Given the description of an element on the screen output the (x, y) to click on. 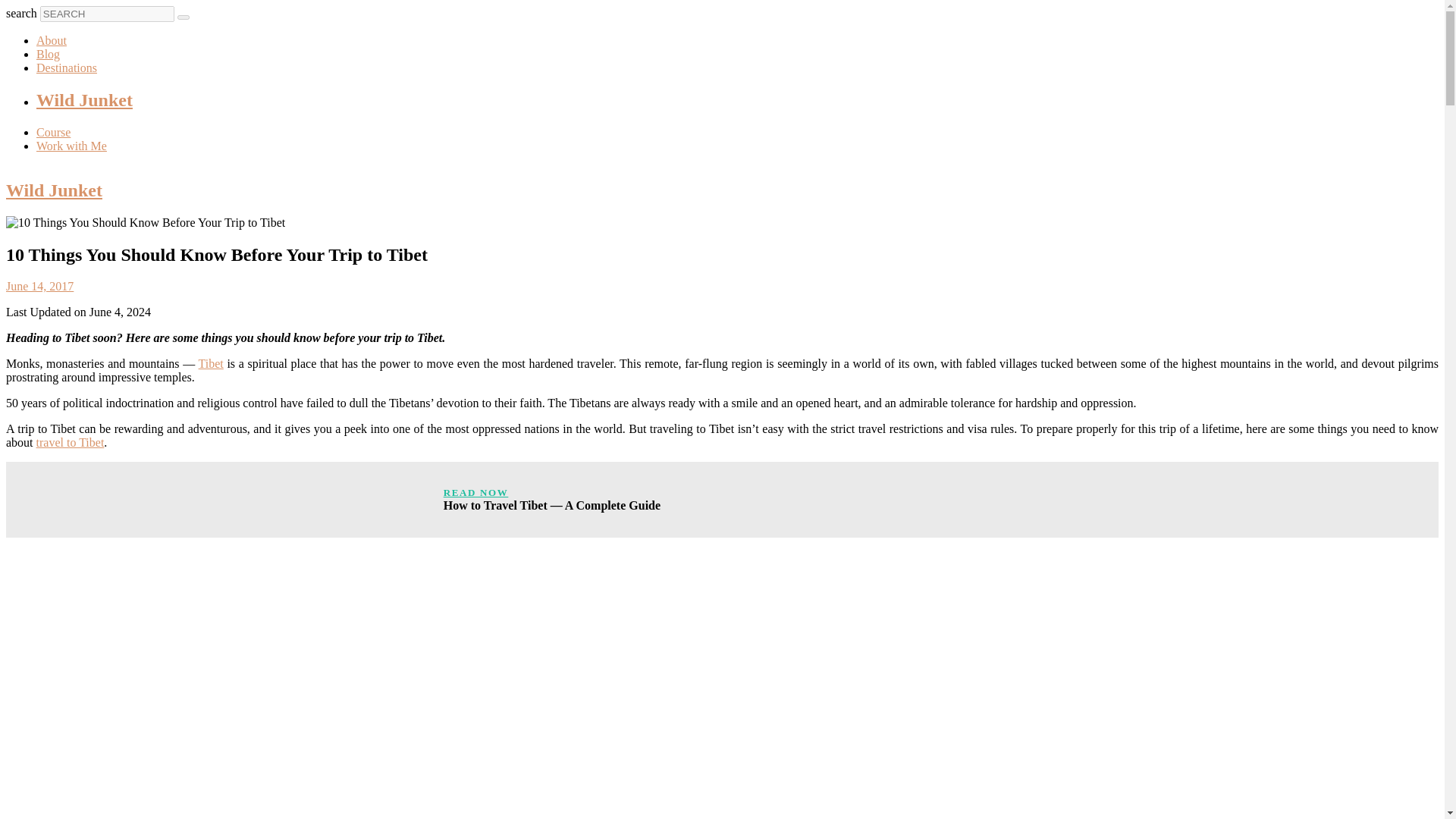
June 14, 2017 (39, 286)
Tibet (211, 363)
About (51, 40)
Blog (47, 53)
travel to Tibet (70, 441)
Course (52, 132)
Destinations (66, 67)
Wild Junket (84, 99)
10 Things You Should Know Before Your Trip to Tibet (145, 223)
Wild Junket (53, 189)
Work with Me (71, 145)
